Given the description of an element on the screen output the (x, y) to click on. 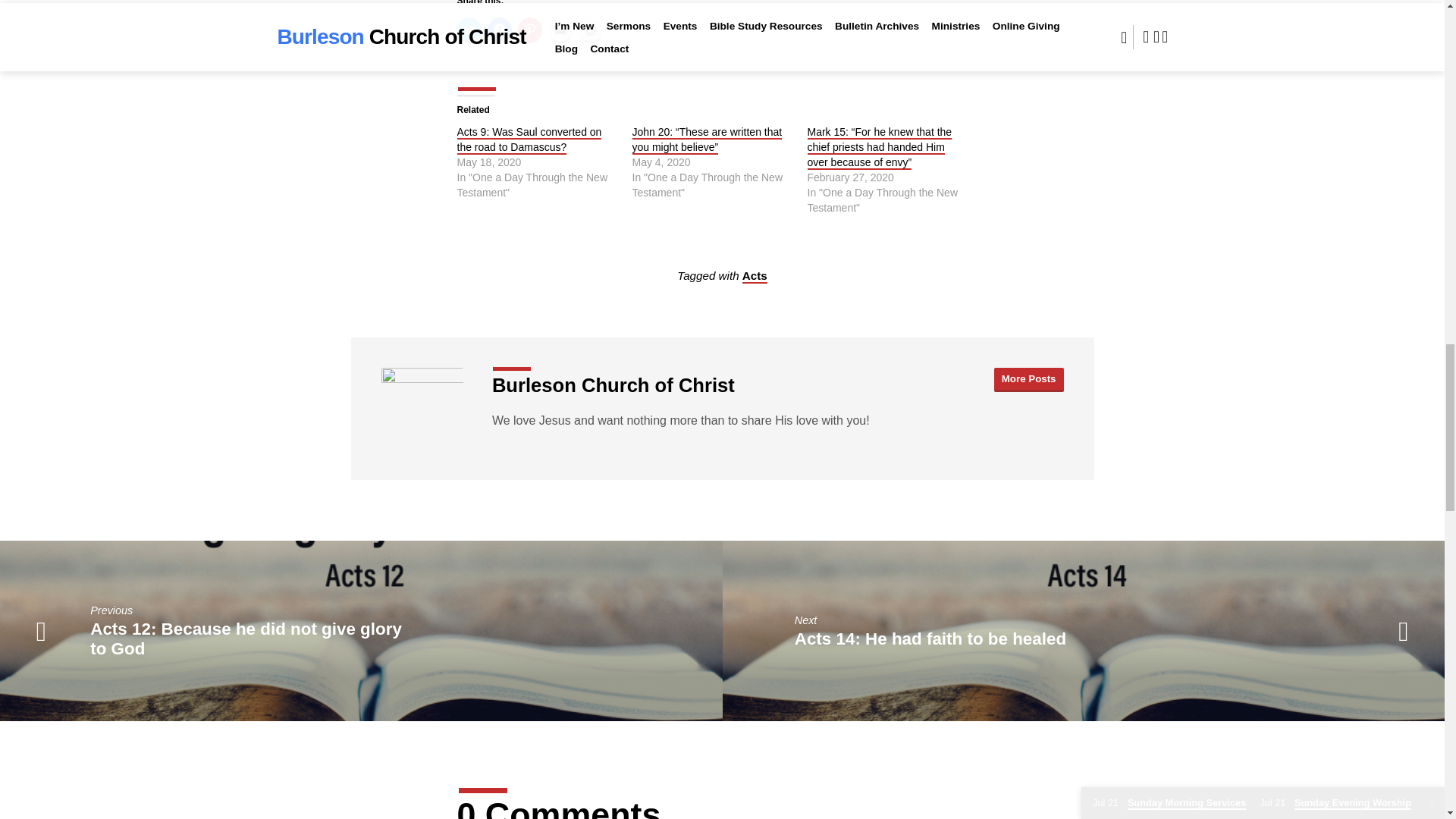
Click to share on Twitter (468, 30)
Acts 9: Was Saul converted on the road to Damascus? (529, 140)
Click to print (590, 30)
Click to share on Facebook (498, 30)
Click to email a link to a friend (559, 30)
Click to share on Pinterest (528, 30)
